Given the description of an element on the screen output the (x, y) to click on. 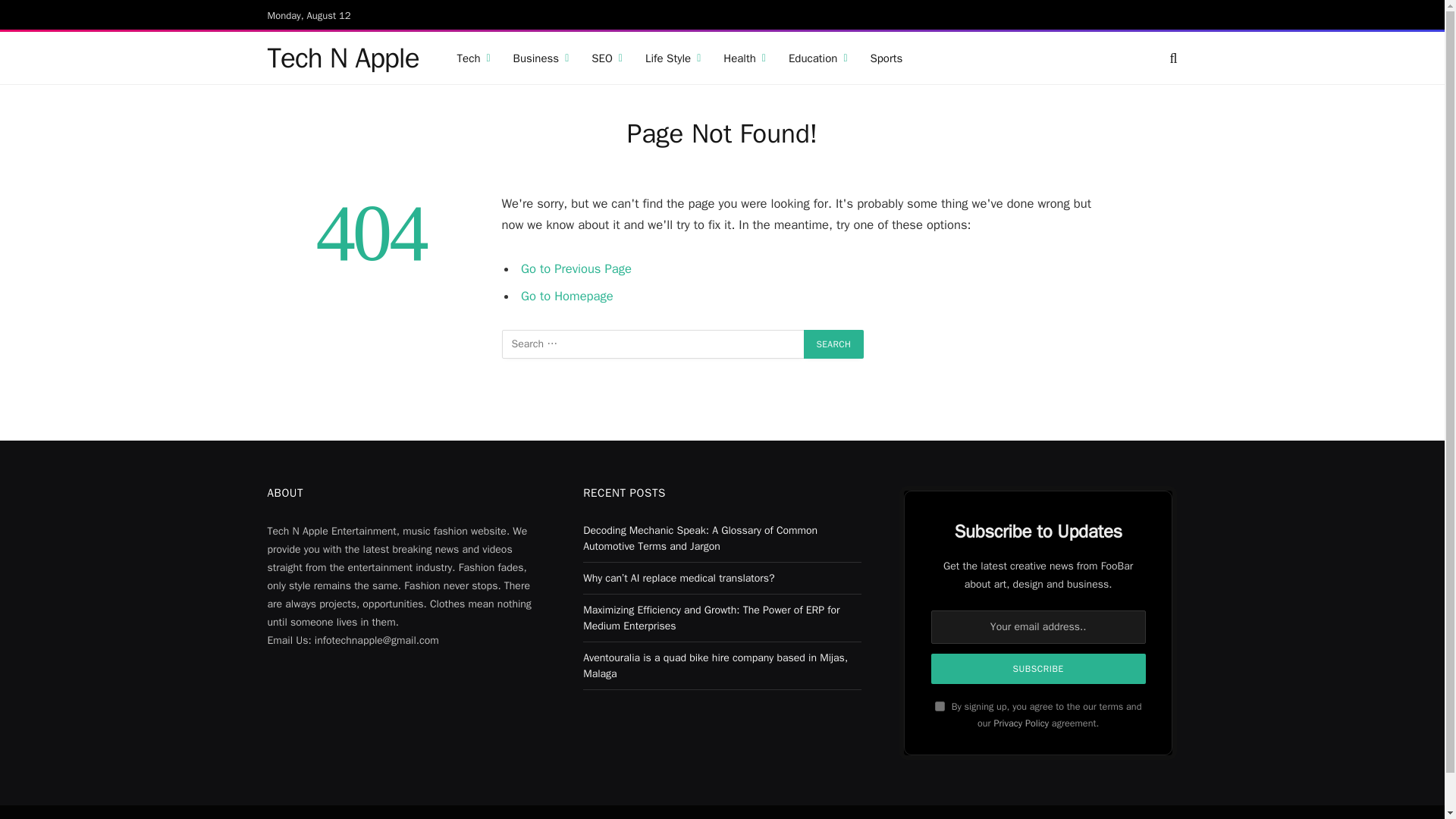
Search (833, 344)
Education (818, 57)
Go to Previous Page (576, 268)
Tech (473, 57)
Privacy Policy (1020, 723)
Technapple (342, 57)
Subscribe (1038, 668)
Sports (886, 57)
Subscribe (1038, 668)
